Given the description of an element on the screen output the (x, y) to click on. 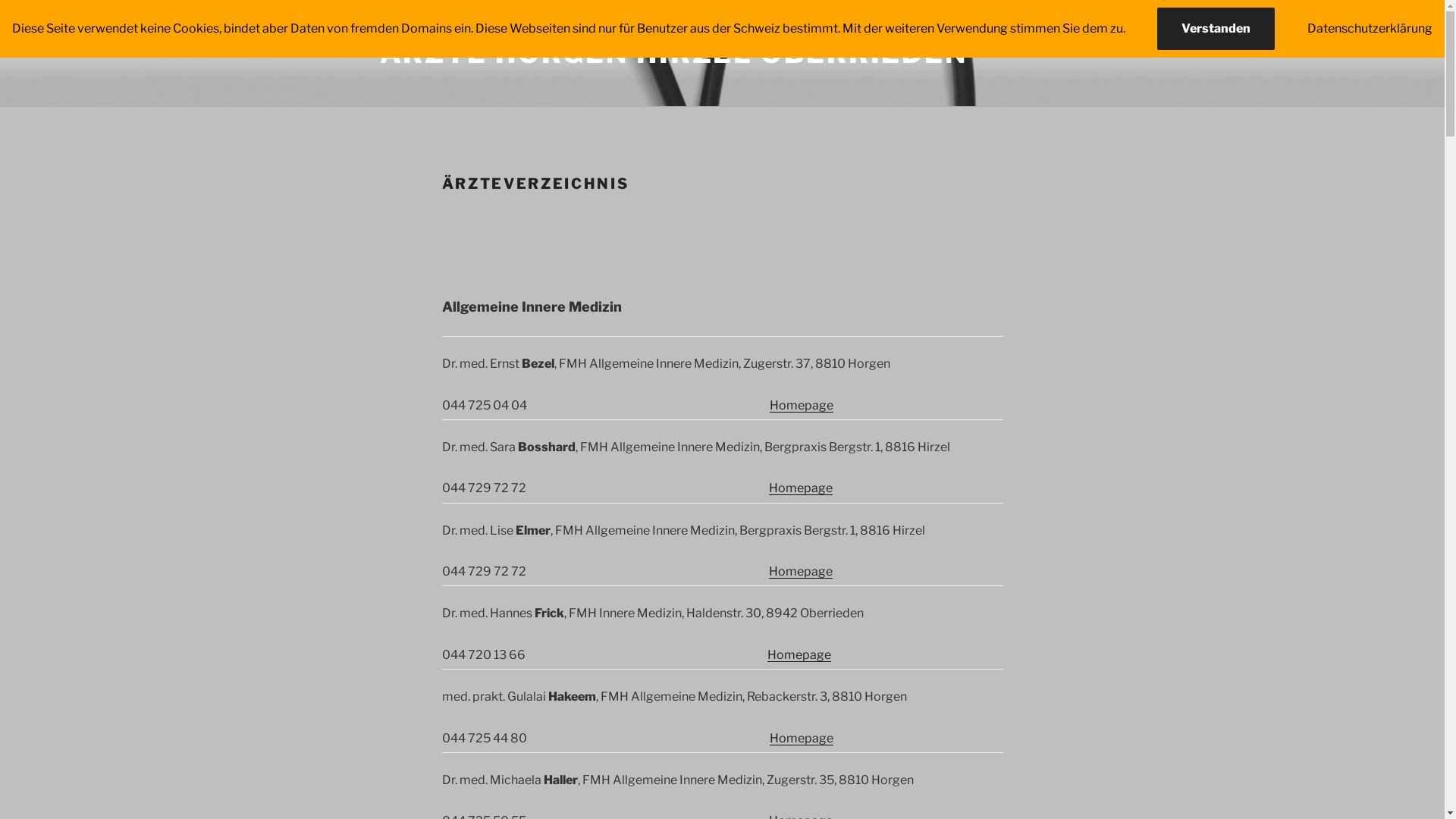
Verstanden Element type: text (1215, 28)
Homepage Element type: text (801, 405)
Homepage Element type: text (799, 654)
Homepage Element type: text (801, 738)
Homepage Element type: text (800, 487)
Homepage Element type: text (800, 571)
